Given the description of an element on the screen output the (x, y) to click on. 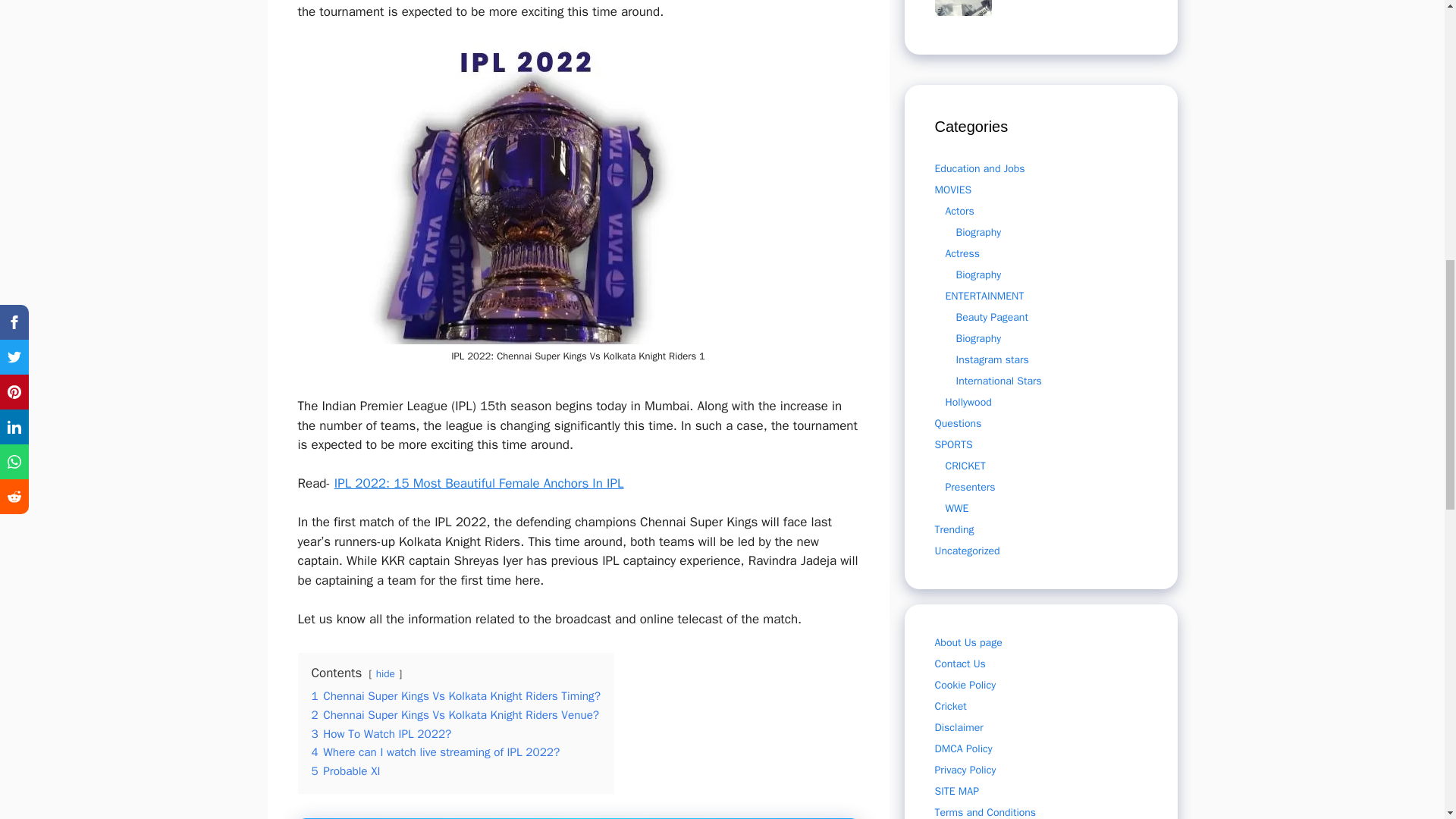
hide (384, 673)
5 Probable XI (345, 770)
3 How To Watch IPL 2022? (381, 734)
1 Chennai Super Kings Vs Kolkata Knight Riders Timing? (455, 695)
4 Where can I watch live streaming of IPL 2022? (435, 752)
2 Chennai Super Kings Vs Kolkata Knight Riders Venue? (454, 714)
IPL 2022: 15 Most Beautiful Female Anchors In IPL (479, 483)
